Given the description of an element on the screen output the (x, y) to click on. 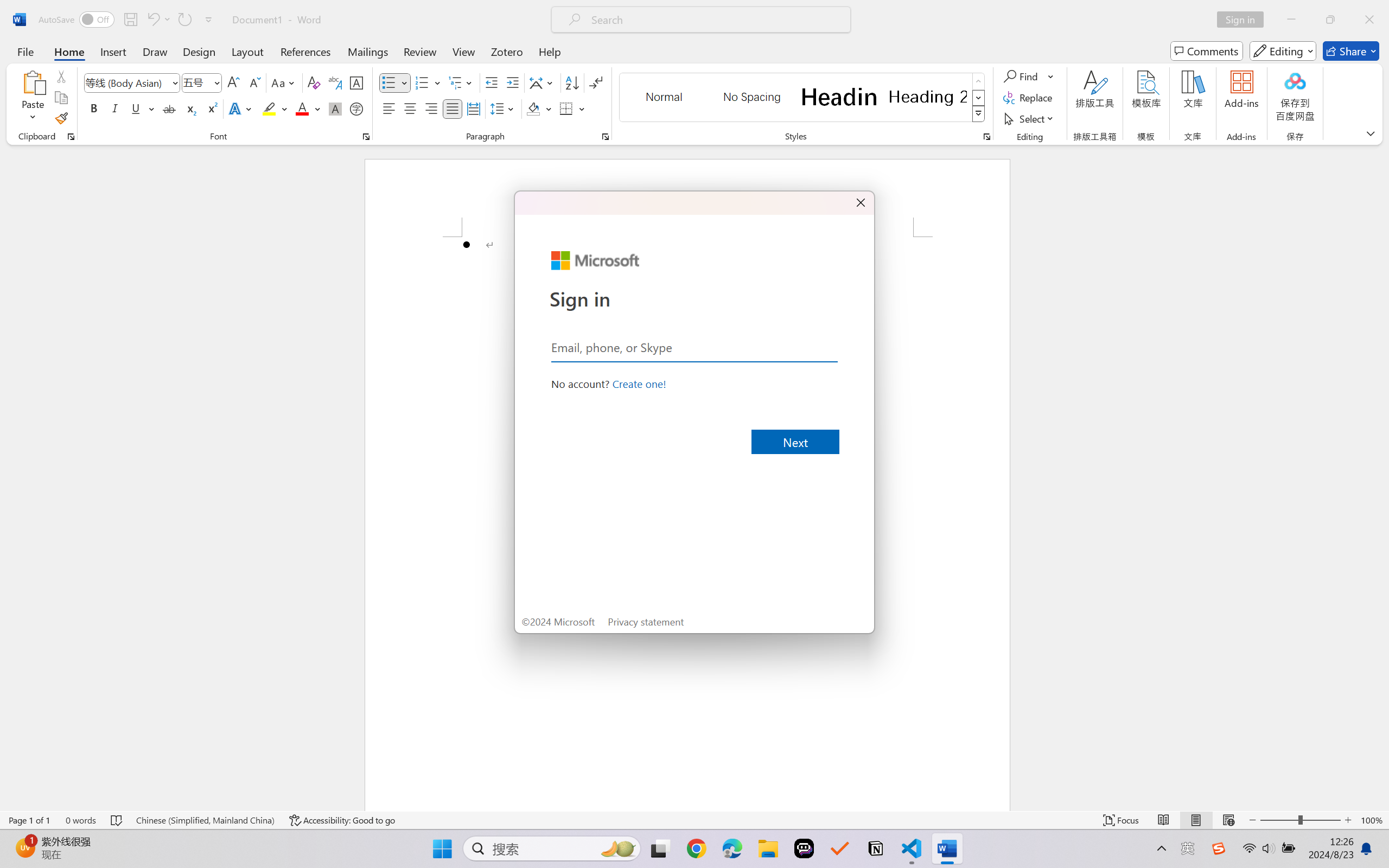
Language Chinese (Simplified, Mainland China) (205, 819)
